Given the description of an element on the screen output the (x, y) to click on. 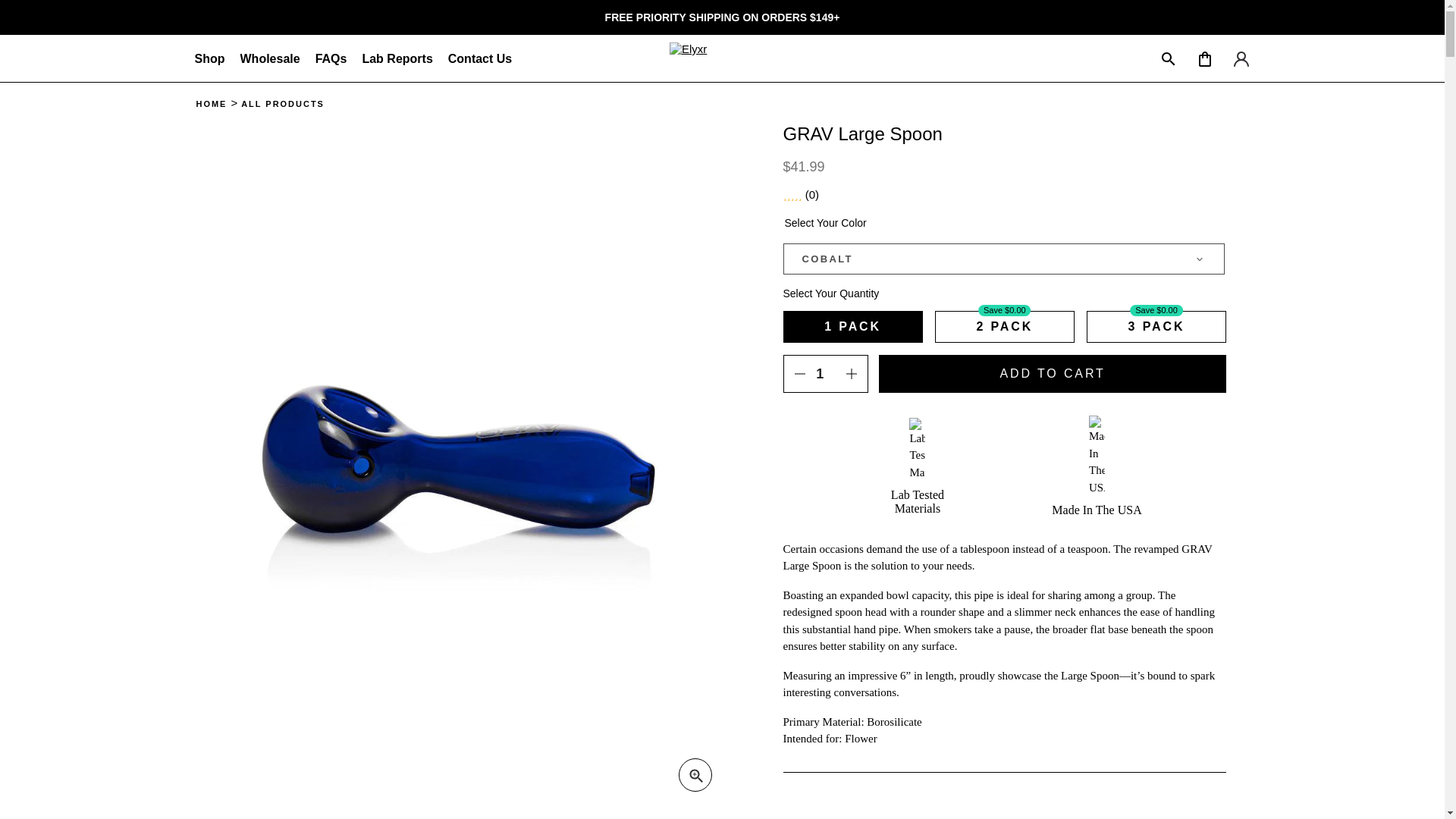
1 (825, 373)
Lab Reports (396, 59)
Shop (208, 59)
Contact Us (480, 59)
FAQs (331, 59)
Wholesale (269, 59)
